Given the description of an element on the screen output the (x, y) to click on. 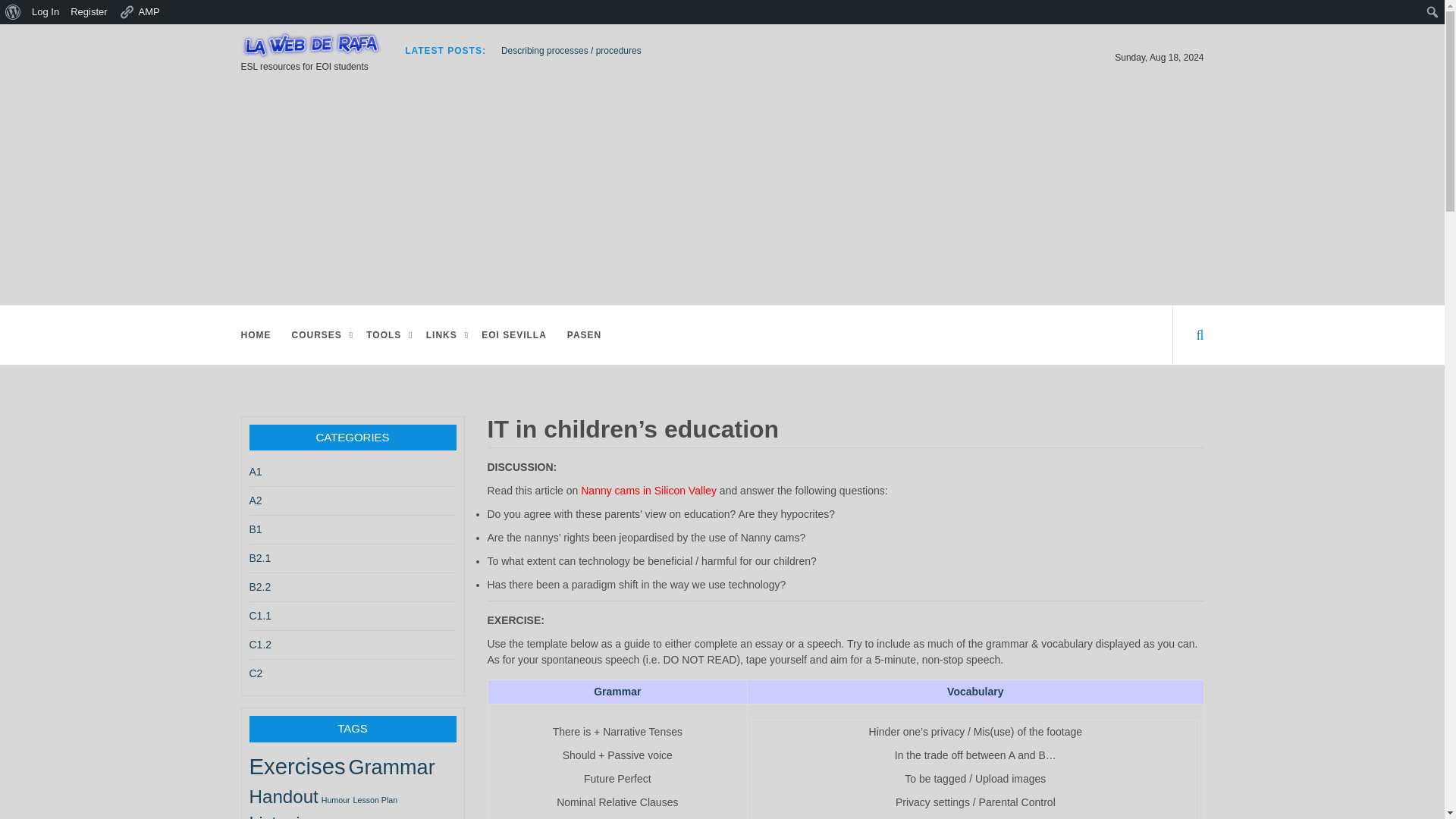
Nanny cams in Silicon Valley (648, 490)
COURSES (320, 334)
LINKS (445, 334)
PASEN (586, 334)
HOME (258, 334)
A2 (255, 500)
EOI SEVILLA (515, 334)
TOOLS (387, 334)
A1 (255, 471)
